Given the description of an element on the screen output the (x, y) to click on. 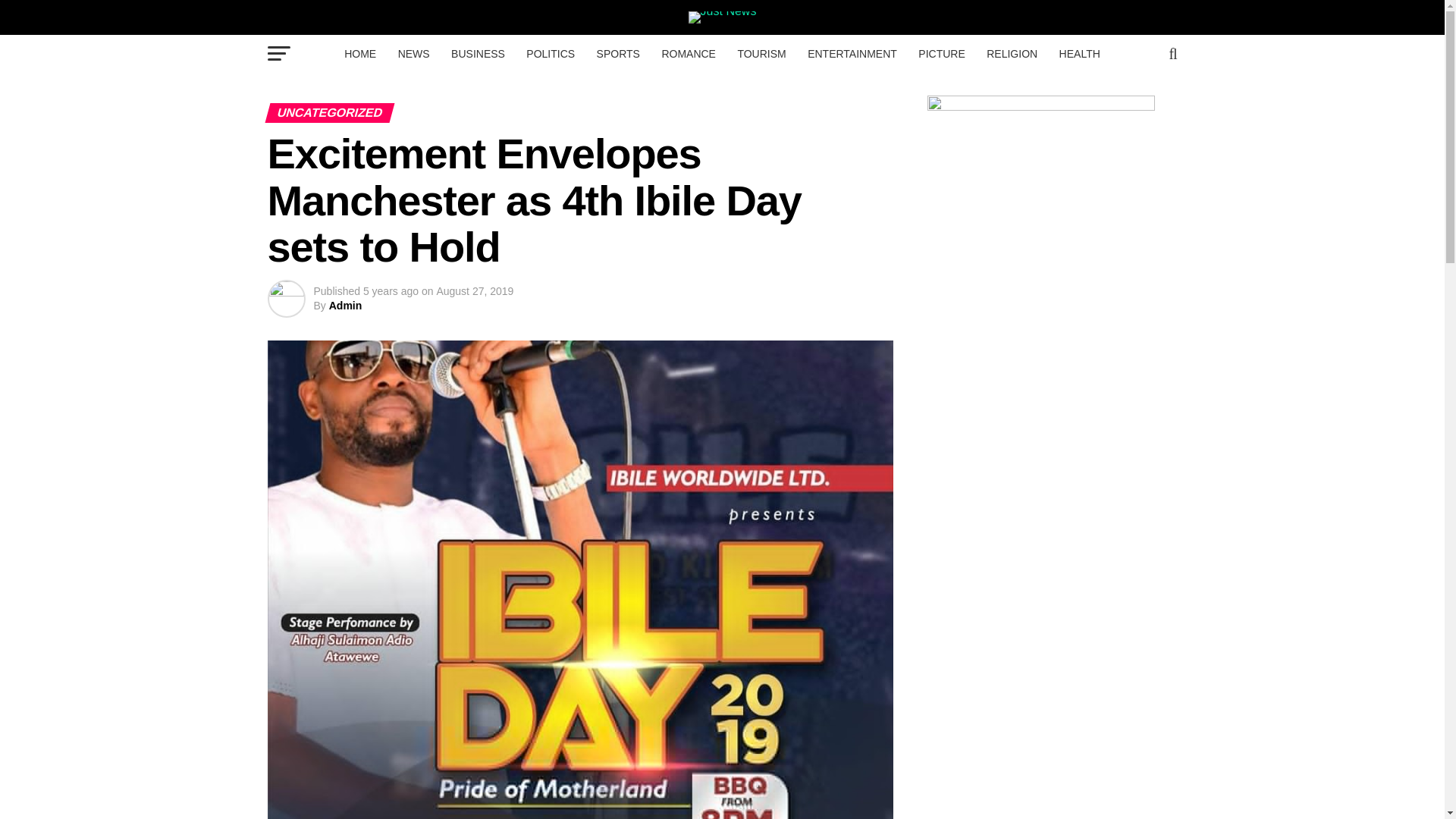
ENTERTAINMENT (851, 53)
POLITICS (549, 53)
ROMANCE (688, 53)
PICTURE (941, 53)
HEALTH (1079, 53)
TOURISM (761, 53)
RELIGION (1011, 53)
HOME (359, 53)
SPORTS (618, 53)
BUSINESS (477, 53)
NEWS (413, 53)
